Given the description of an element on the screen output the (x, y) to click on. 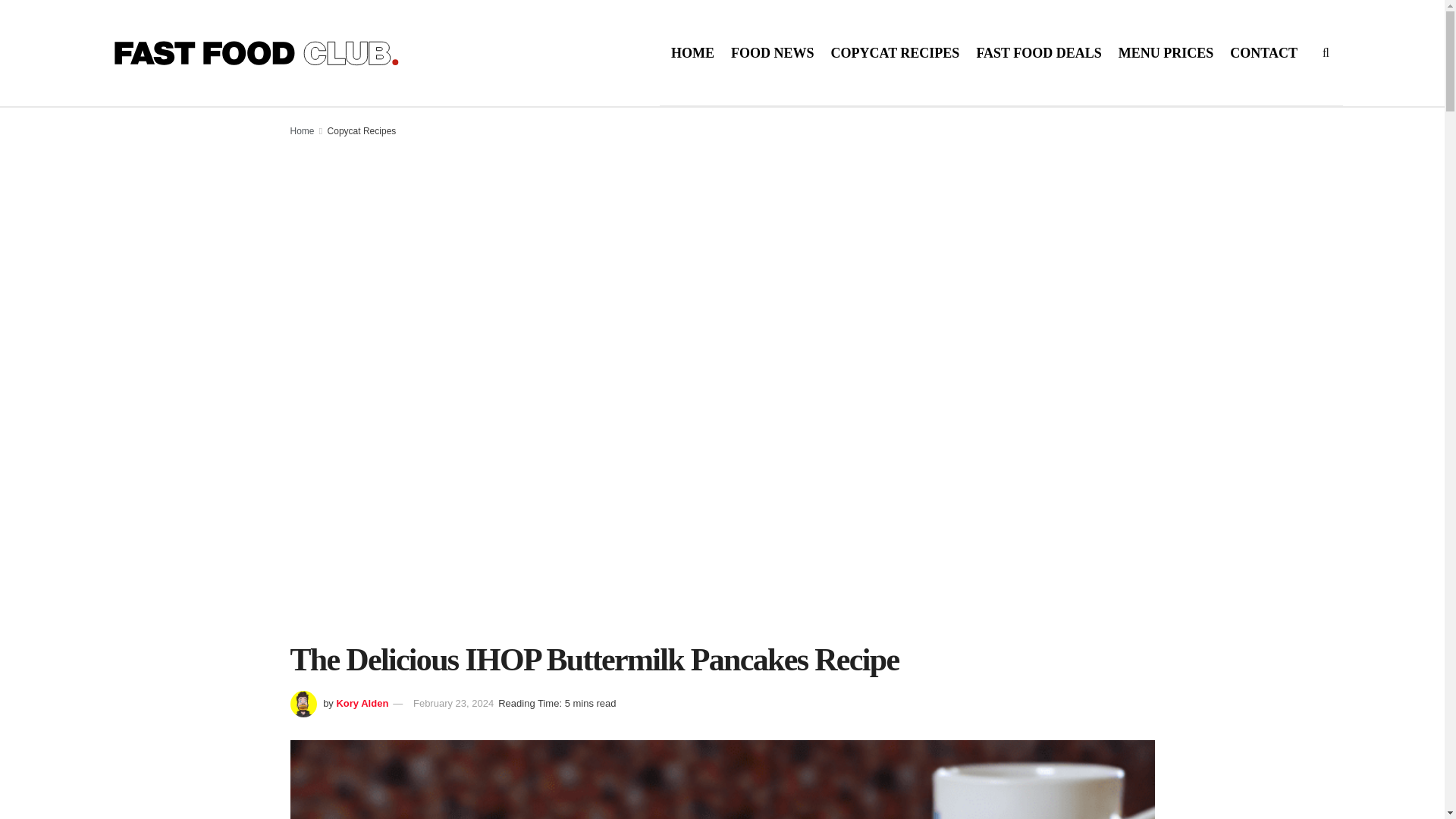
Kory Alden (362, 703)
CONTACT (1263, 53)
FAST FOOD DEALS (1037, 53)
MENU PRICES (1166, 53)
Copycat Recipes (361, 131)
HOME (692, 53)
The Delicious IHOP Buttermilk Pancakes Recipe 1 (721, 779)
Home (301, 131)
COPYCAT RECIPES (895, 53)
February 23, 2024 (453, 703)
